Given the description of an element on the screen output the (x, y) to click on. 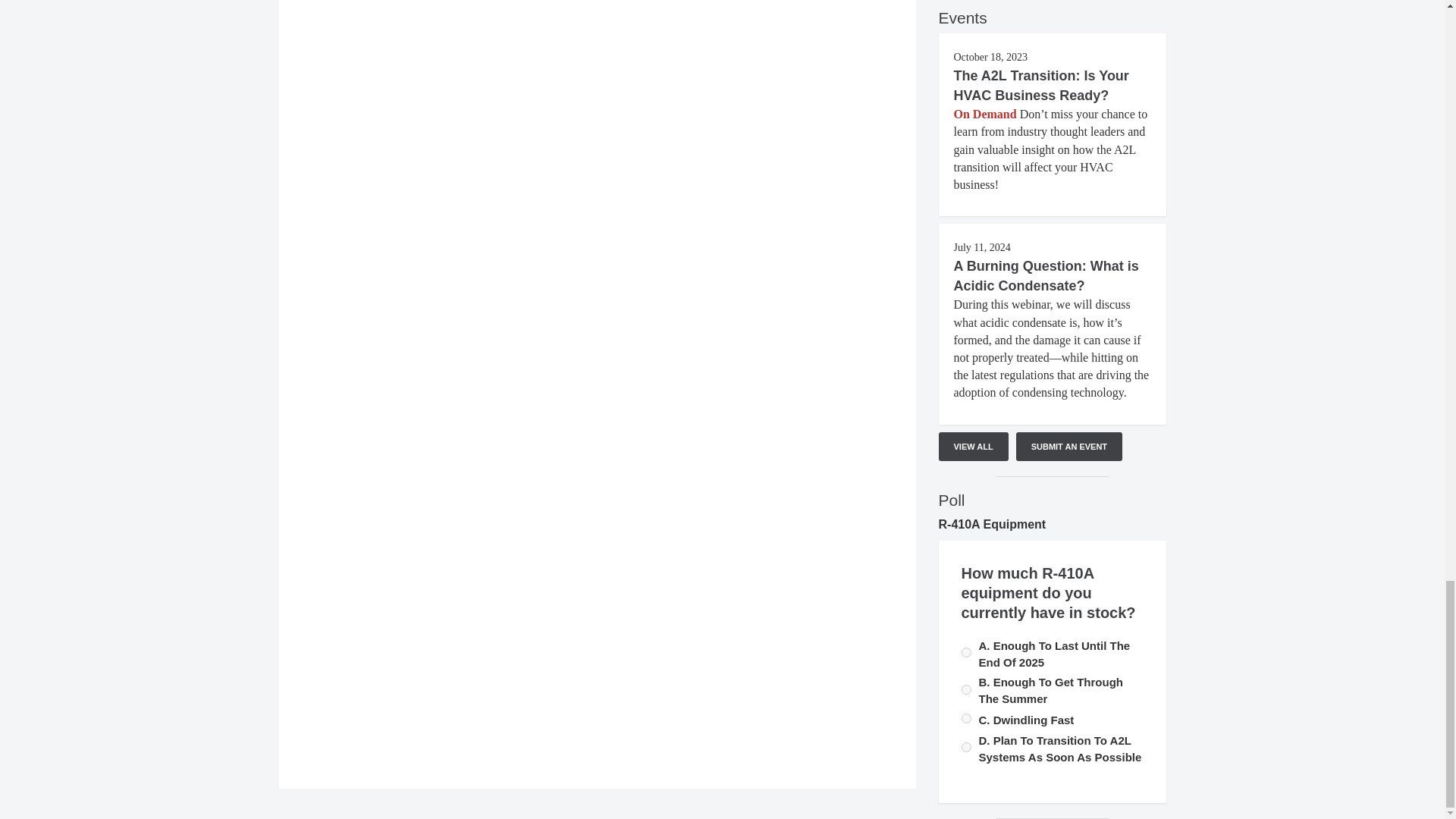
A Burning Question: What is Acidic Condensate? (1045, 275)
599 (965, 747)
596 (965, 689)
597 (965, 652)
The A2L Transition: Is Your HVAC Business Ready? (1041, 85)
598 (965, 718)
